Given the description of an element on the screen output the (x, y) to click on. 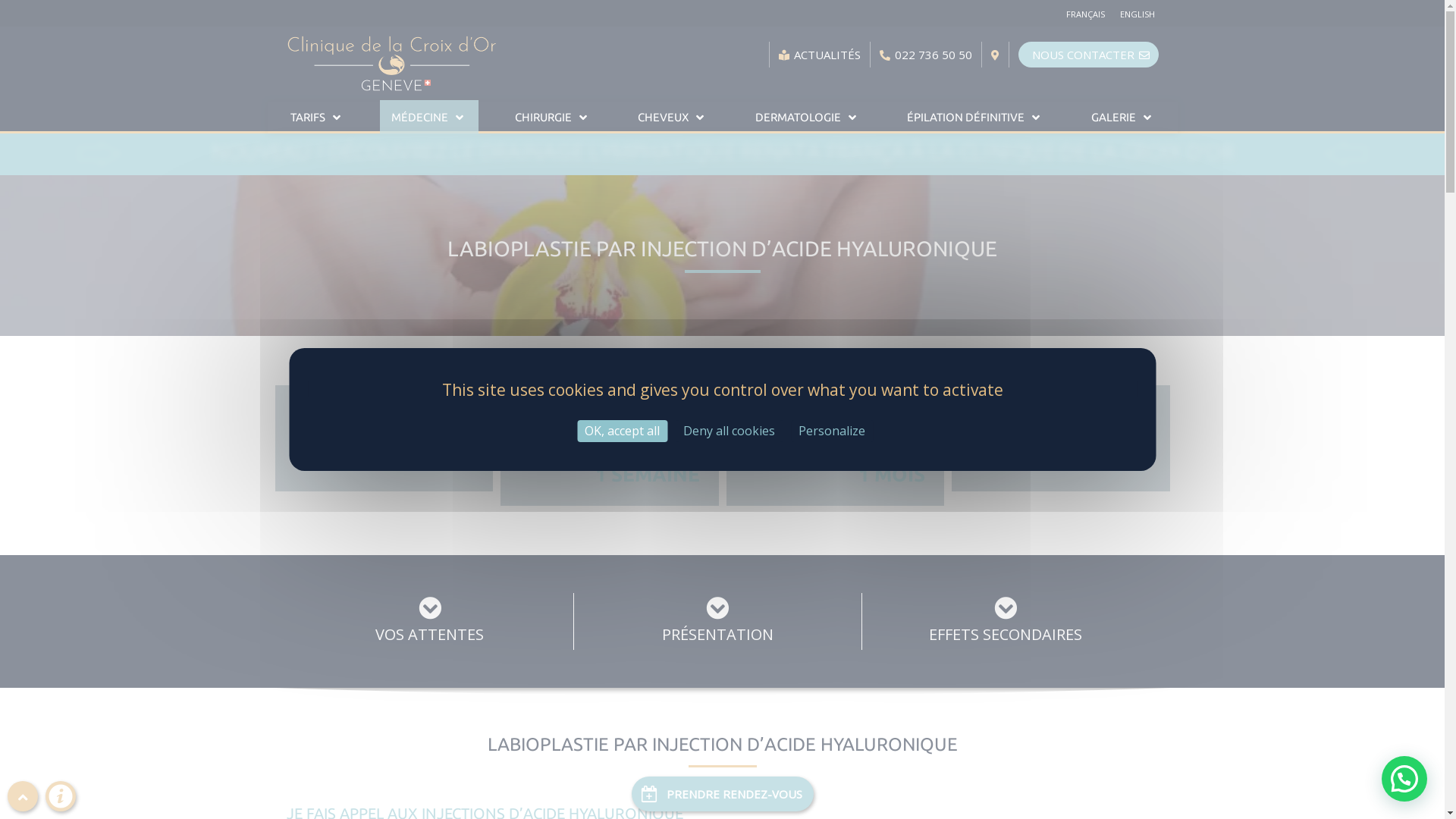
022 736 50 50 Element type: text (925, 54)
OK, accept all Element type: text (622, 431)
ENGLISH Element type: text (1136, 13)
NOUS CONTACTER Element type: text (1087, 54)
Deny all cookies Element type: text (728, 431)
CHEVEUX Element type: text (672, 117)
Personalize Element type: text (831, 431)
EFFETS SECONDAIRES Element type: text (1005, 622)
GALERIE Element type: text (1122, 117)
CHIRURGIE Element type: text (552, 117)
VOS ATTENTES Element type: text (430, 622)
DERMATOLOGIE Element type: text (806, 117)
TARIFS Element type: text (317, 117)
